Given the description of an element on the screen output the (x, y) to click on. 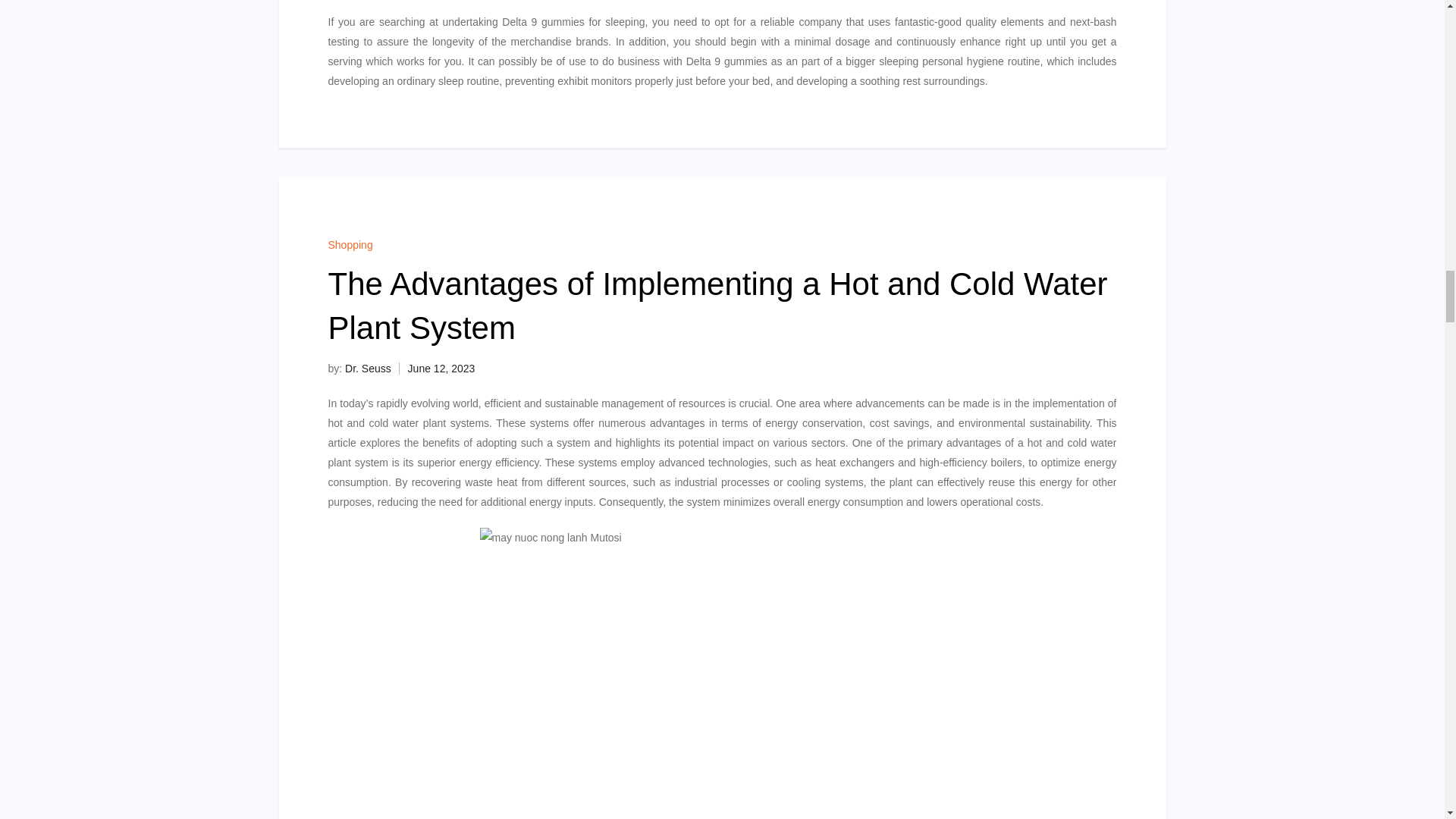
June 12, 2023 (441, 368)
Dr. Seuss (368, 368)
Shopping (349, 244)
